Given the description of an element on the screen output the (x, y) to click on. 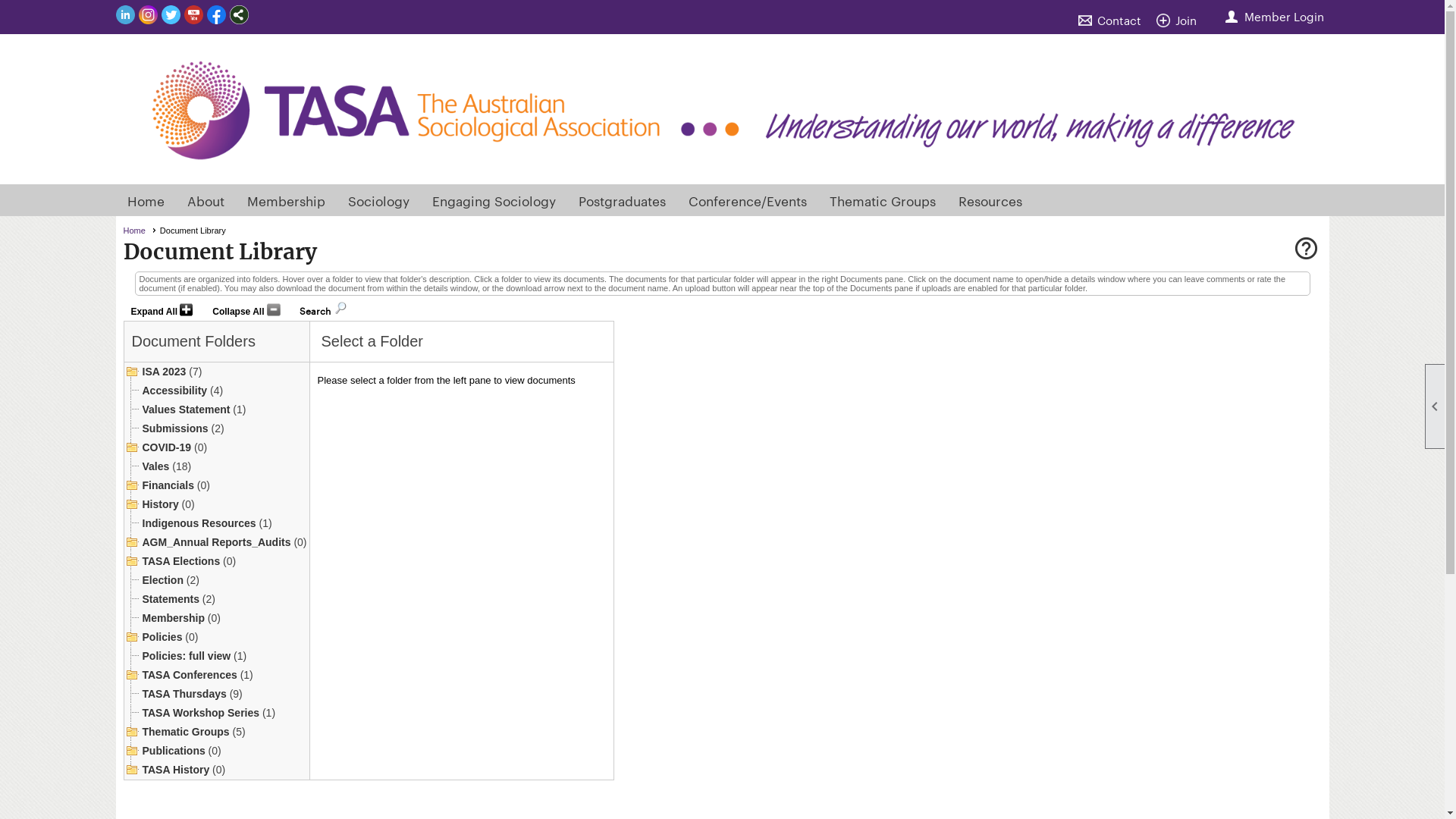
Visit us on YouTube Element type: hover (192, 15)
Search Element type: text (315, 307)
Join Element type: text (1179, 19)
help_outline Element type: text (1305, 250)
Home Element type: text (145, 200)
Contact Element type: text (1113, 19)
Visit us on Twitter Element type: hover (169, 15)
Visit us on Instagram Element type: hover (147, 15)
Home Element type: text (138, 230)
Visit us on LinkedIn Element type: hover (124, 15)
Member Login Element type: text (1274, 16)
Visit us on Facebook Element type: hover (215, 15)
Click here for more sharing options Element type: hover (238, 14)
